Given the description of an element on the screen output the (x, y) to click on. 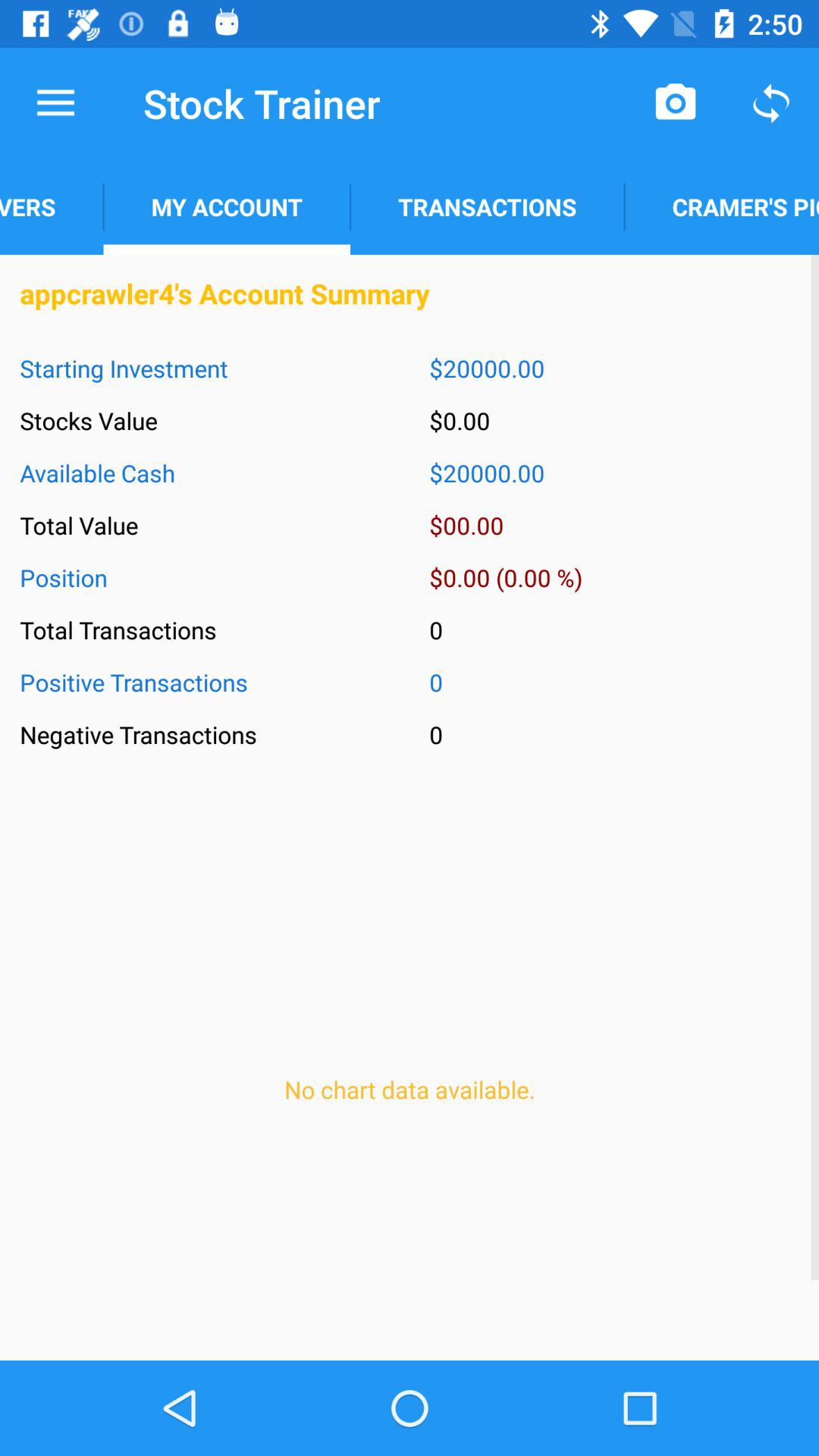
flip to the my account (226, 206)
